Given the description of an element on the screen output the (x, y) to click on. 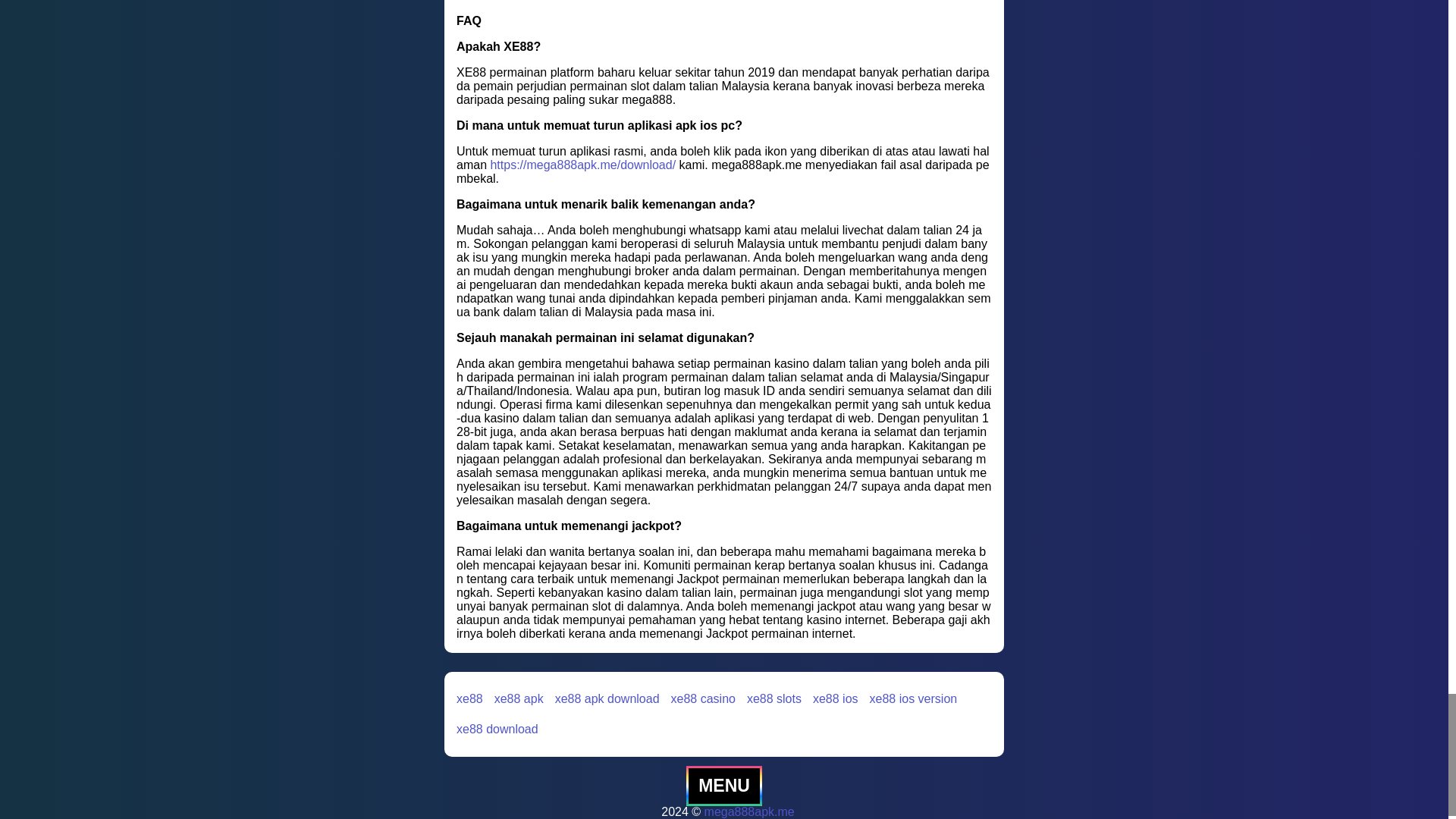
mega888apk.me (749, 811)
xe88 ios version (913, 698)
xe88 casino (703, 698)
xe88 apk download (606, 698)
xe88 ios (835, 698)
xe88 apk (519, 698)
xe88 slots (774, 698)
xe88 download (497, 729)
